Given the description of an element on the screen output the (x, y) to click on. 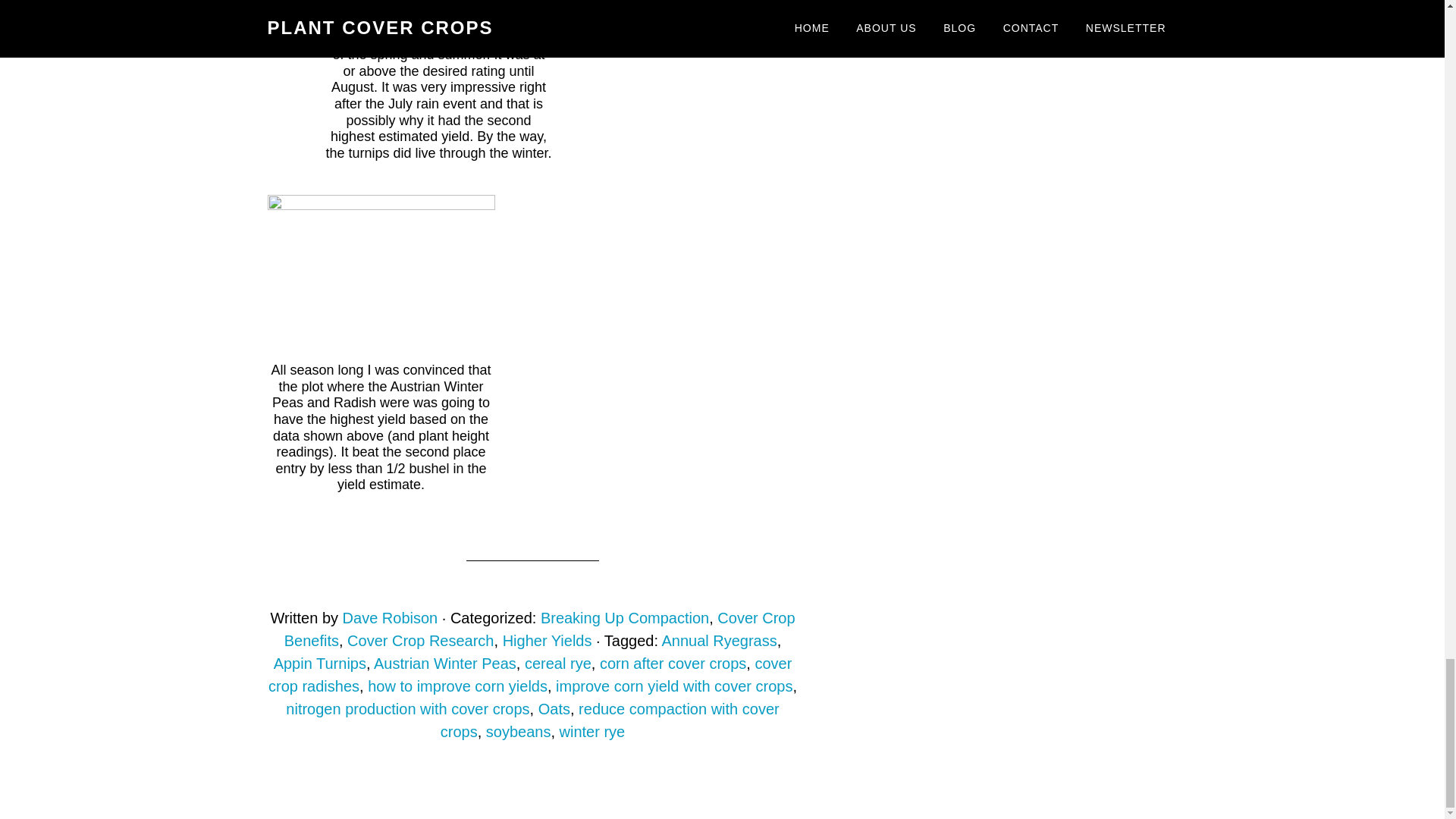
Breaking Up Compaction (624, 617)
cereal rye (557, 663)
reduce compaction with cover crops (609, 720)
corn after cover crops (672, 663)
Dave Robison (390, 617)
Annual Ryegrass (718, 640)
cover crop radishes (529, 674)
Austrian Winter Peas (445, 663)
how to improve corn yields (457, 686)
